Given the description of an element on the screen output the (x, y) to click on. 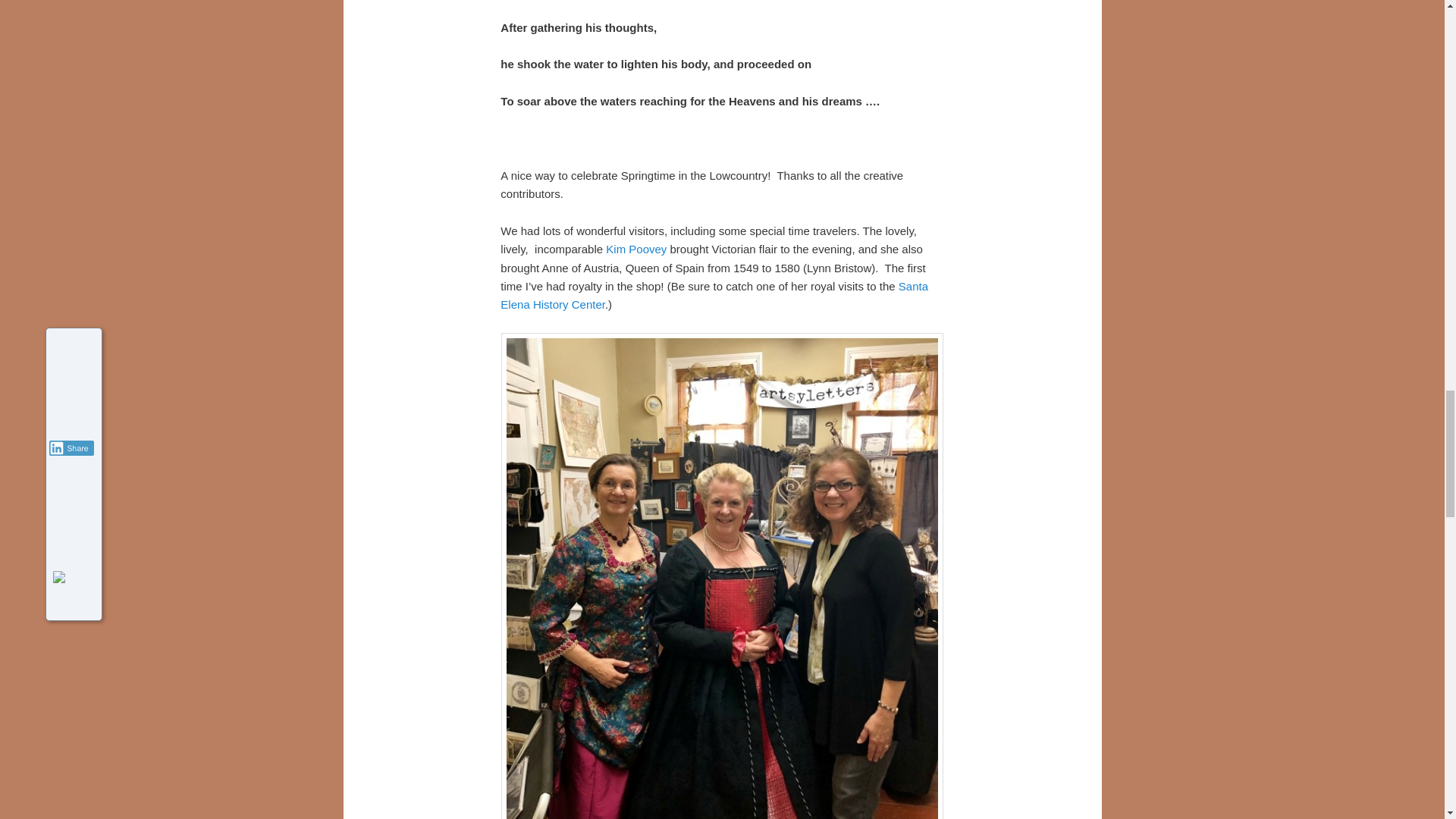
Kim Poovey (635, 248)
Santa Elena History Center (714, 295)
